Given the description of an element on the screen output the (x, y) to click on. 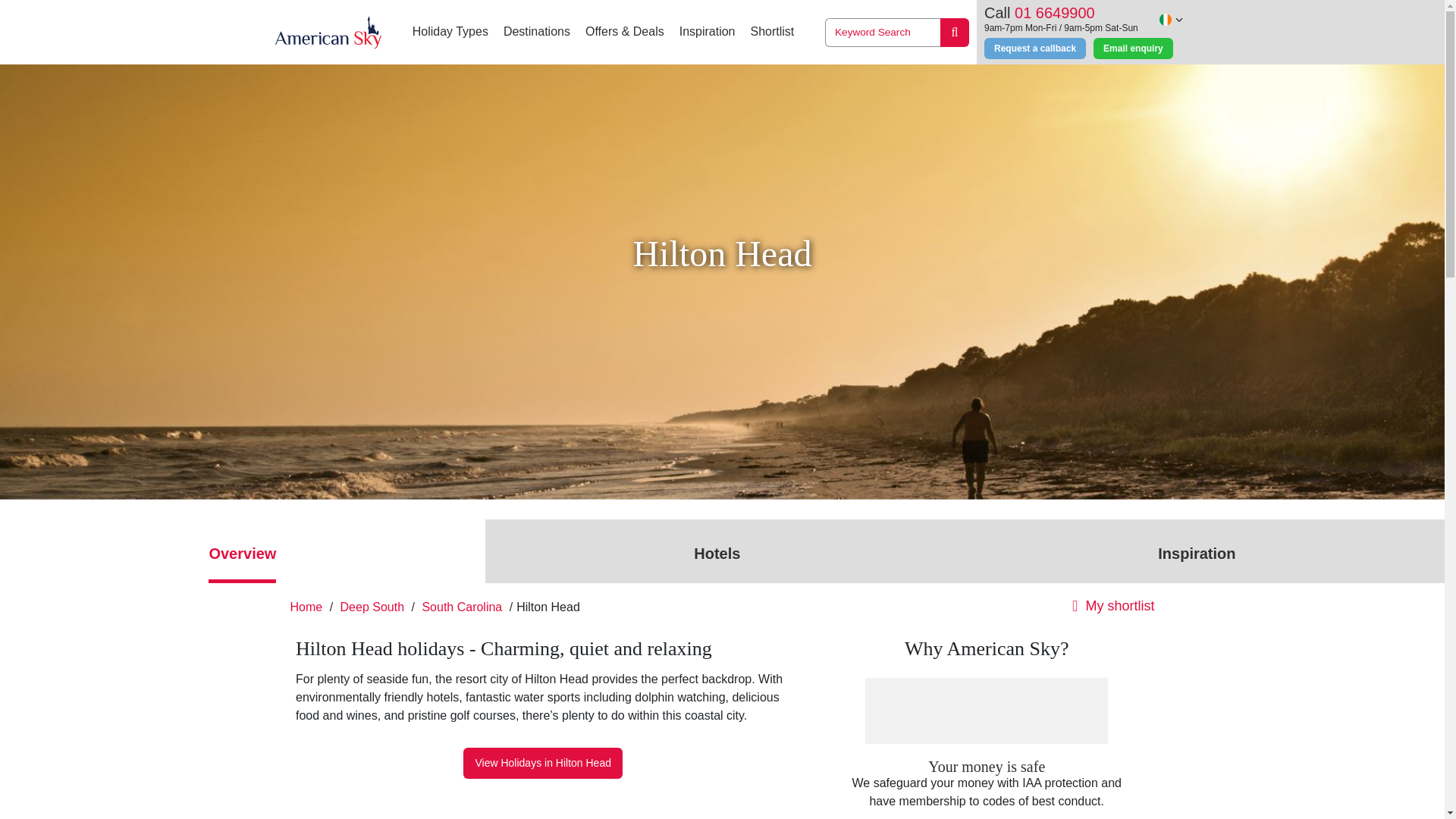
Holiday Types (450, 32)
Destinations (537, 32)
American Sky (328, 31)
